Given the description of an element on the screen output the (x, y) to click on. 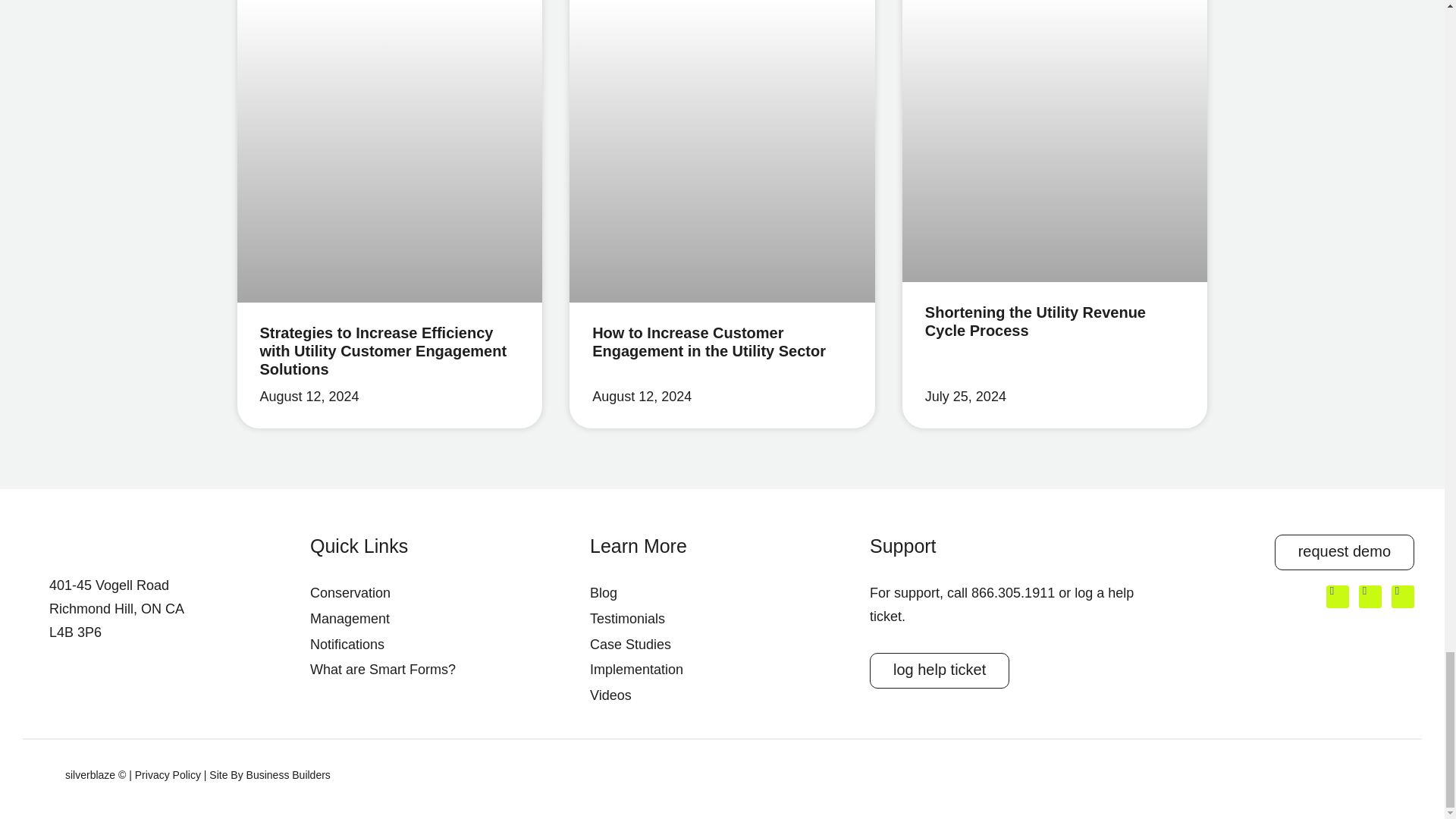
Testimonials (721, 618)
Management (442, 618)
Notifications (442, 644)
Implementation (721, 669)
Privacy Policy (167, 775)
What are Smart Forms? (442, 669)
request demo (1344, 552)
Shortening the Utility Revenue Cycle Process (1034, 321)
How to Increase Customer Engagement in the Utility Sector (708, 341)
log help ticket (939, 670)
